Given the description of an element on the screen output the (x, y) to click on. 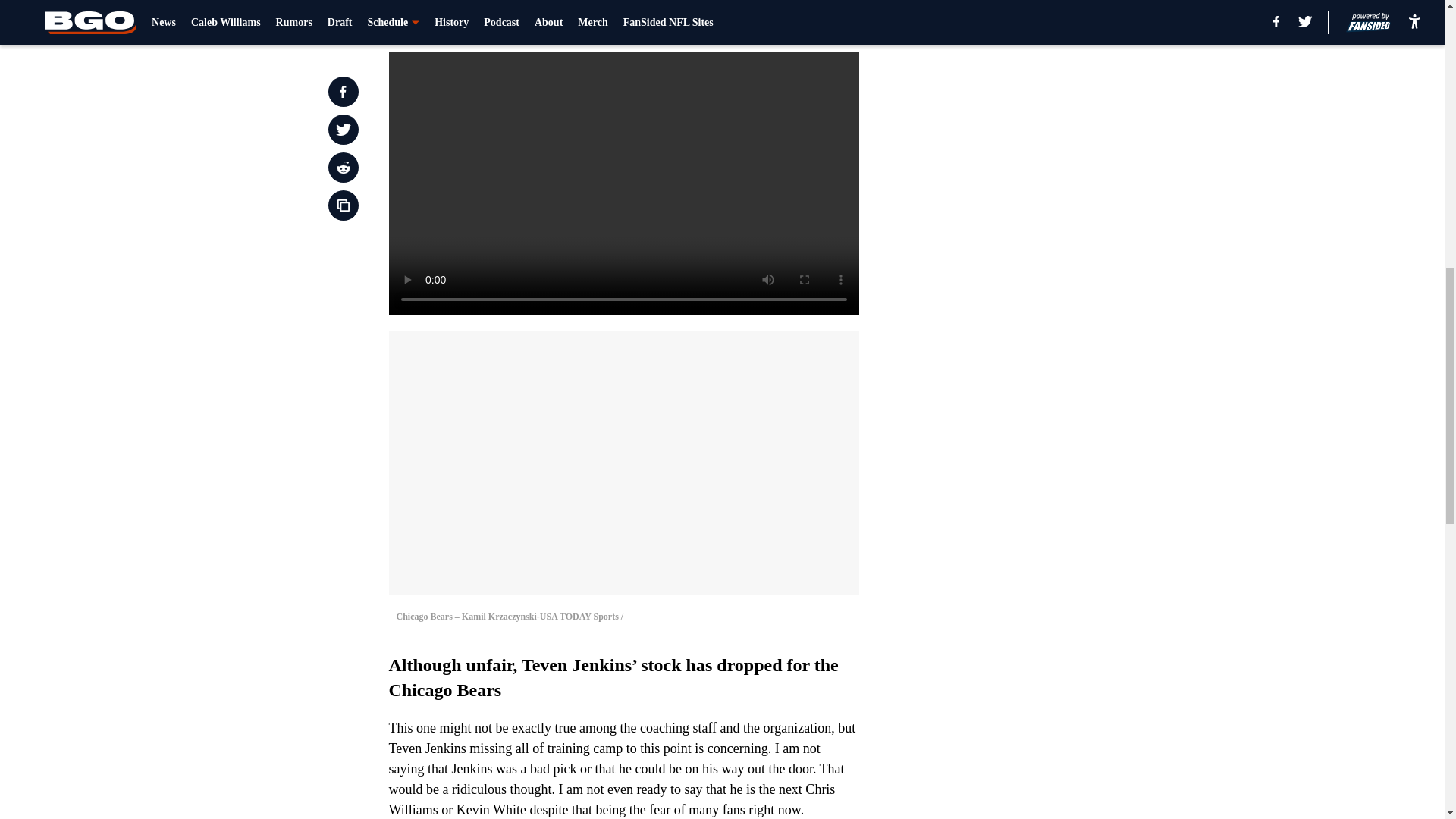
Next (813, 20)
Prev (433, 20)
3rd party ad content (1047, 100)
3rd party ad content (1047, 320)
